Given the description of an element on the screen output the (x, y) to click on. 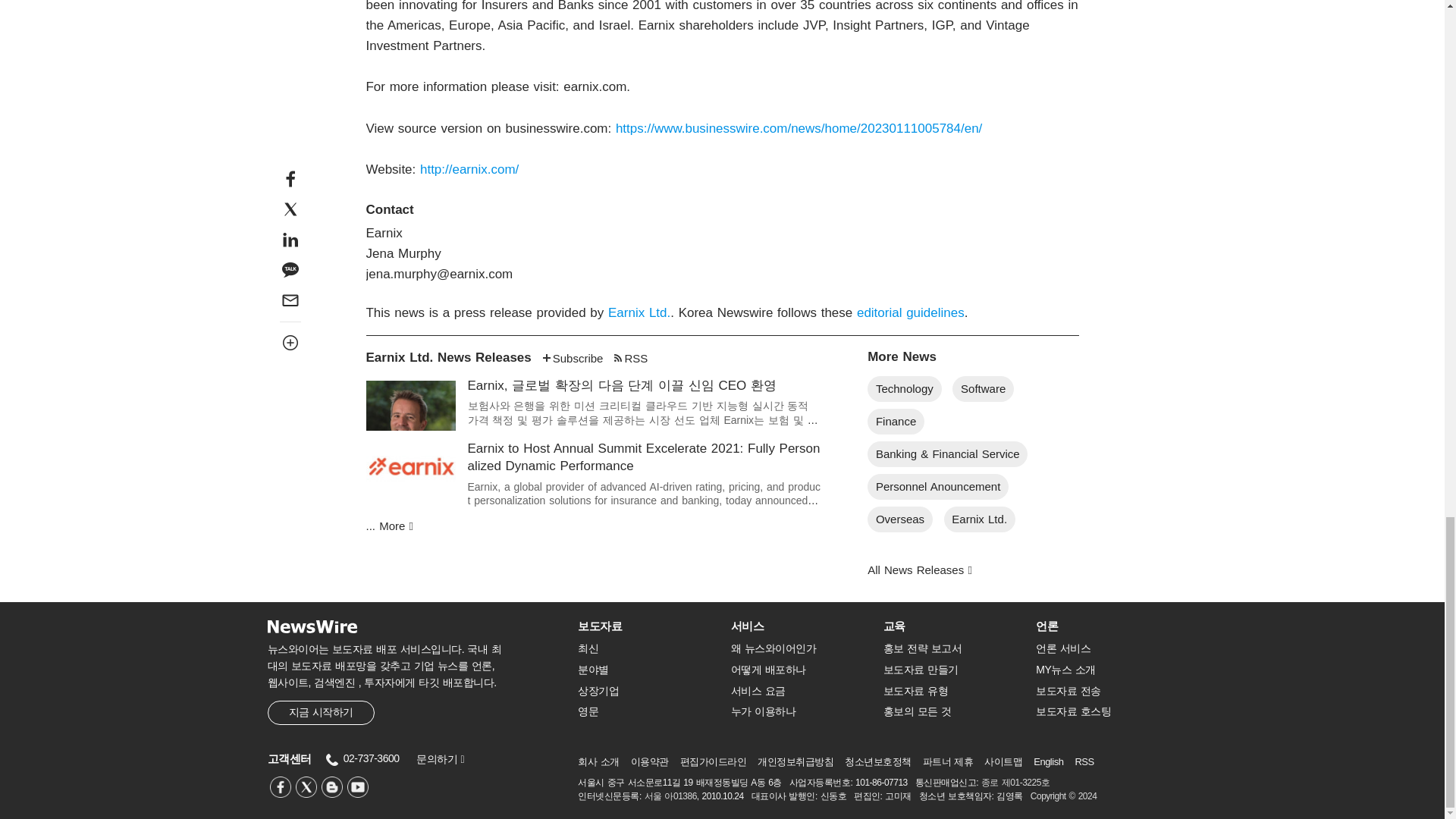
Earnix Ltd. Logo (409, 467)
